Given the description of an element on the screen output the (x, y) to click on. 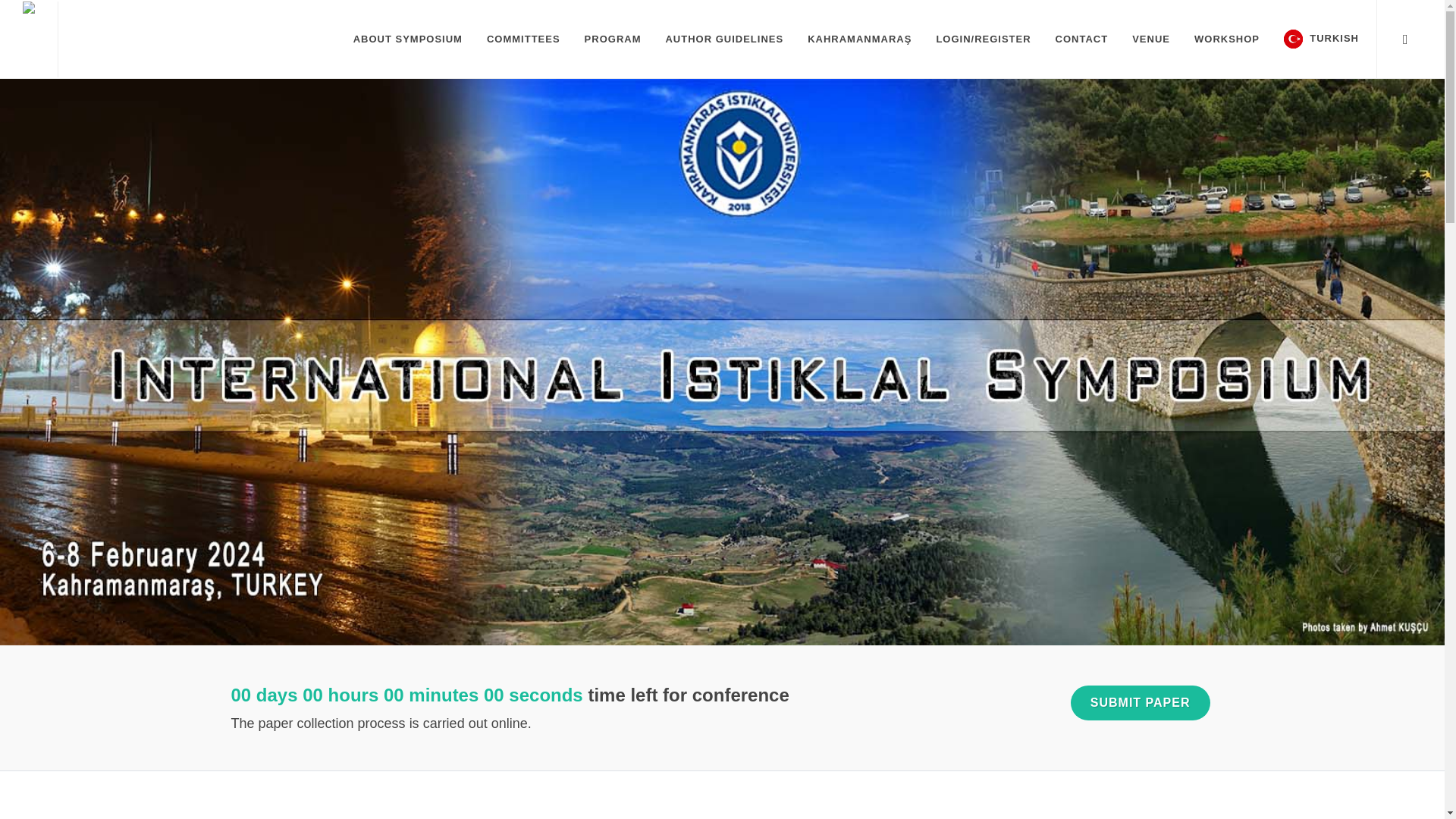
COMMITTEES (524, 38)
ABOUT SYMPOSIUM (408, 38)
WORKSHOP (1226, 38)
AUTHOR GUIDELINES (723, 38)
SUBMIT PAPER (1139, 702)
PROGRAM (612, 38)
  TURKISH (1321, 38)
CONTACT (1081, 38)
